Given the description of an element on the screen output the (x, y) to click on. 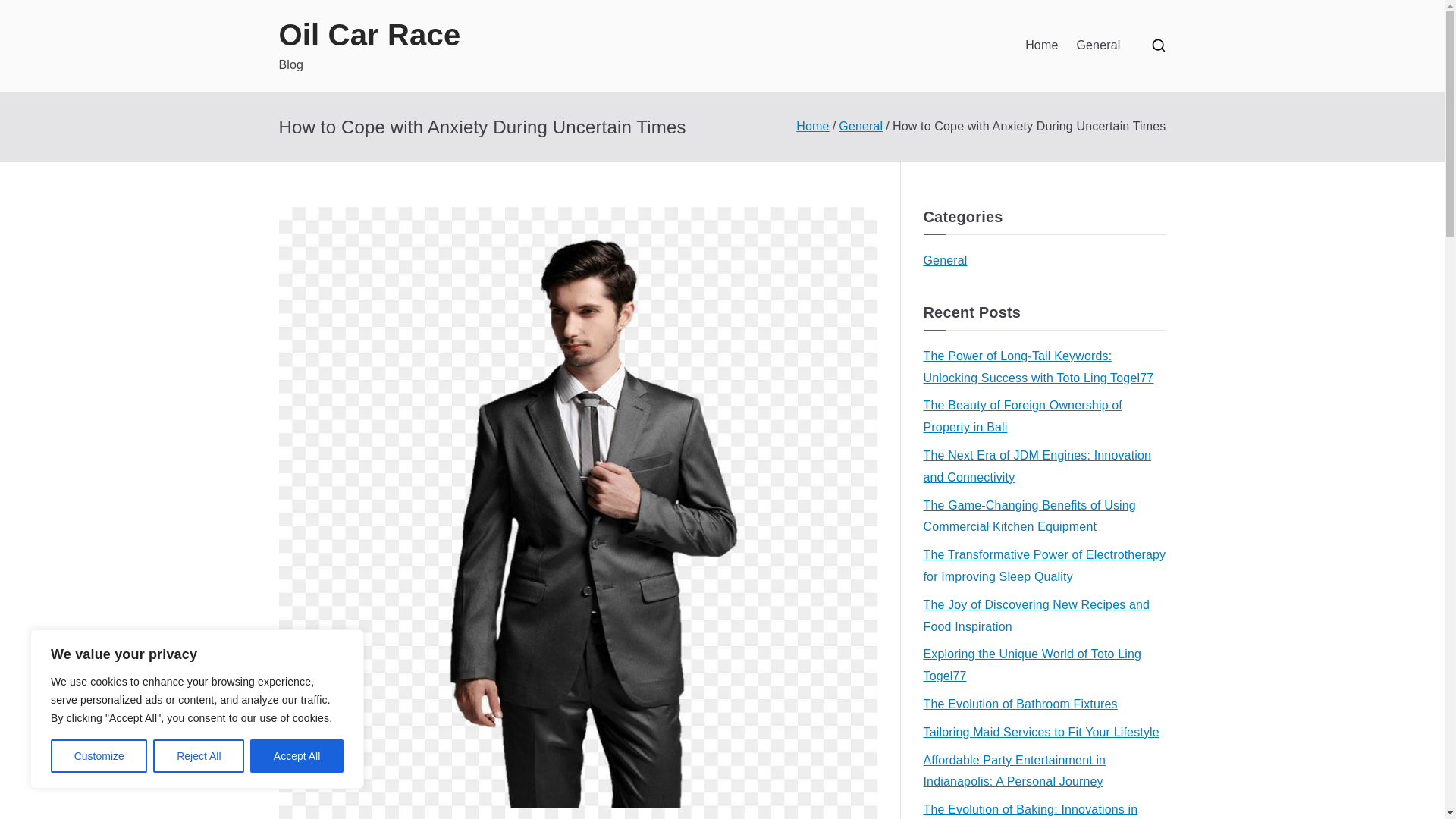
Home (812, 125)
Reject All (198, 756)
General (860, 125)
General (945, 260)
Home (1041, 45)
Customize (98, 756)
General (1097, 45)
Oil Car Race (370, 34)
Accept All (296, 756)
